Given the description of an element on the screen output the (x, y) to click on. 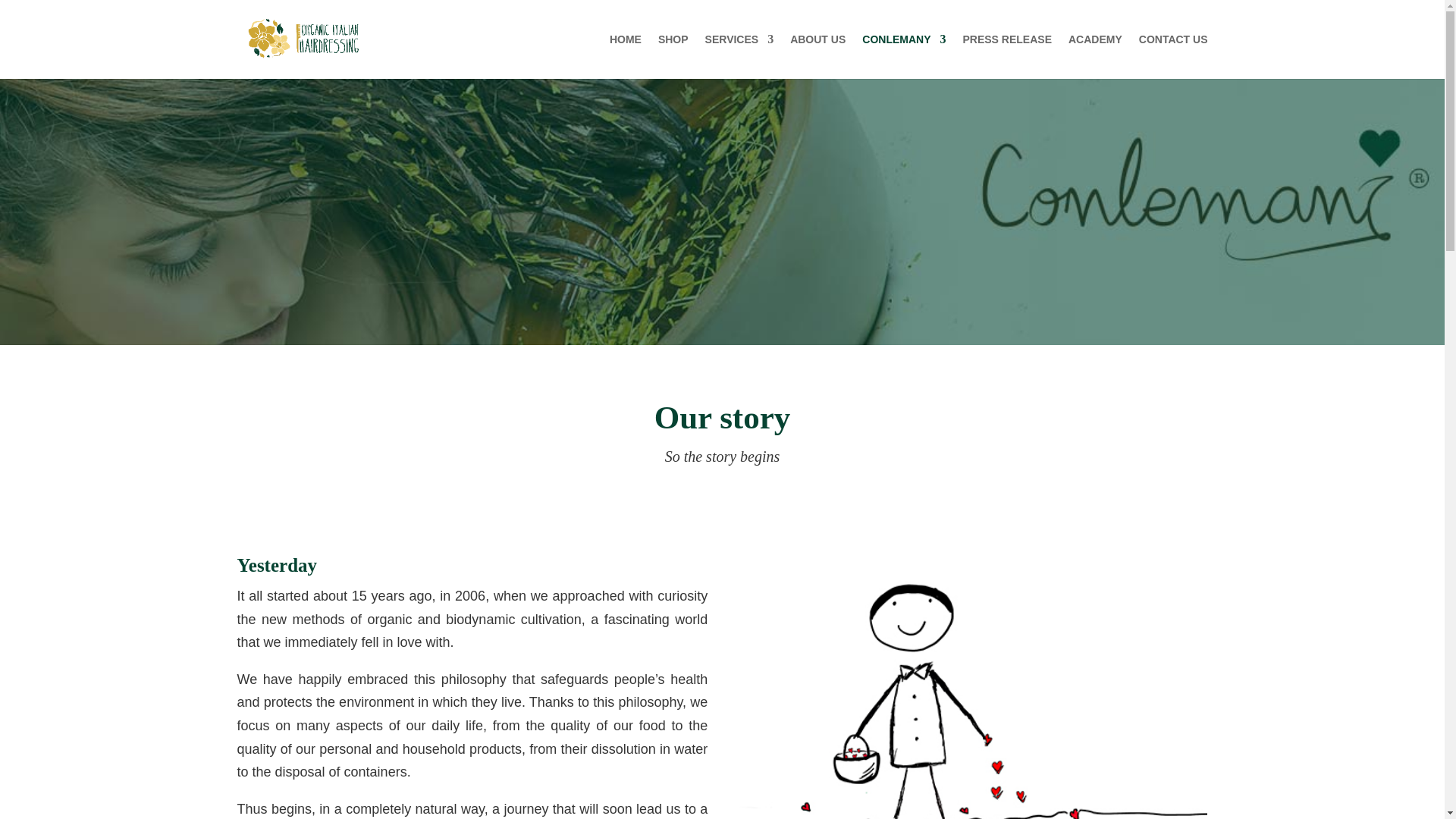
ACADEMY (1095, 56)
CONLEMANY (902, 56)
PRESS RELEASE (1006, 56)
ABOUT US (817, 56)
SERVICES (739, 56)
CONTACT US (1173, 56)
